Given the description of an element on the screen output the (x, y) to click on. 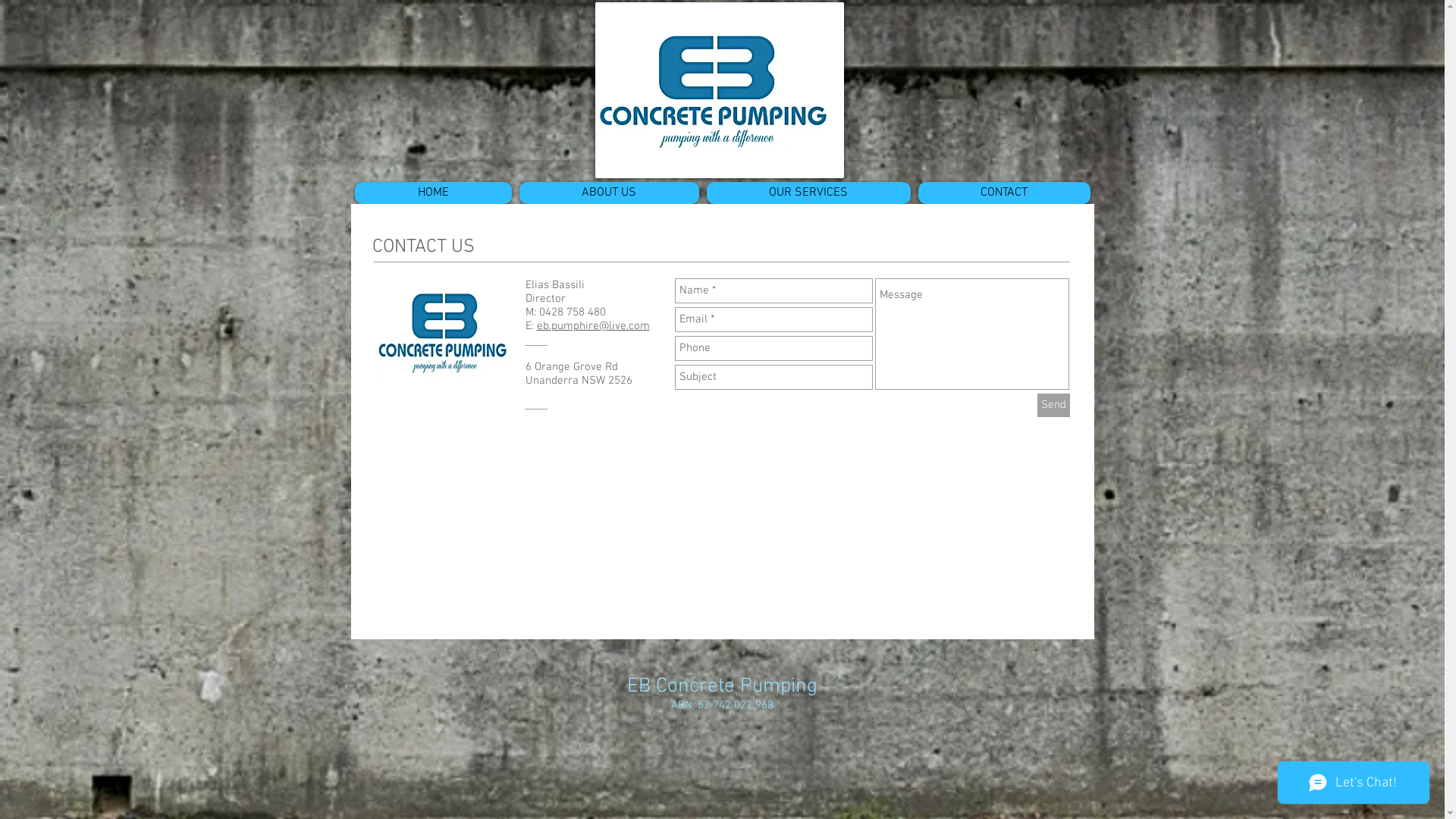
Send Element type: text (1053, 405)
ABOUT US Element type: text (608, 192)
CONTACT Element type: text (1003, 192)
OUR SERVICES Element type: text (808, 192)
eb.pumphire@live.com Element type: text (592, 325)
Google Maps Element type: hover (797, 560)
HOME Element type: text (432, 192)
